Given the description of an element on the screen output the (x, y) to click on. 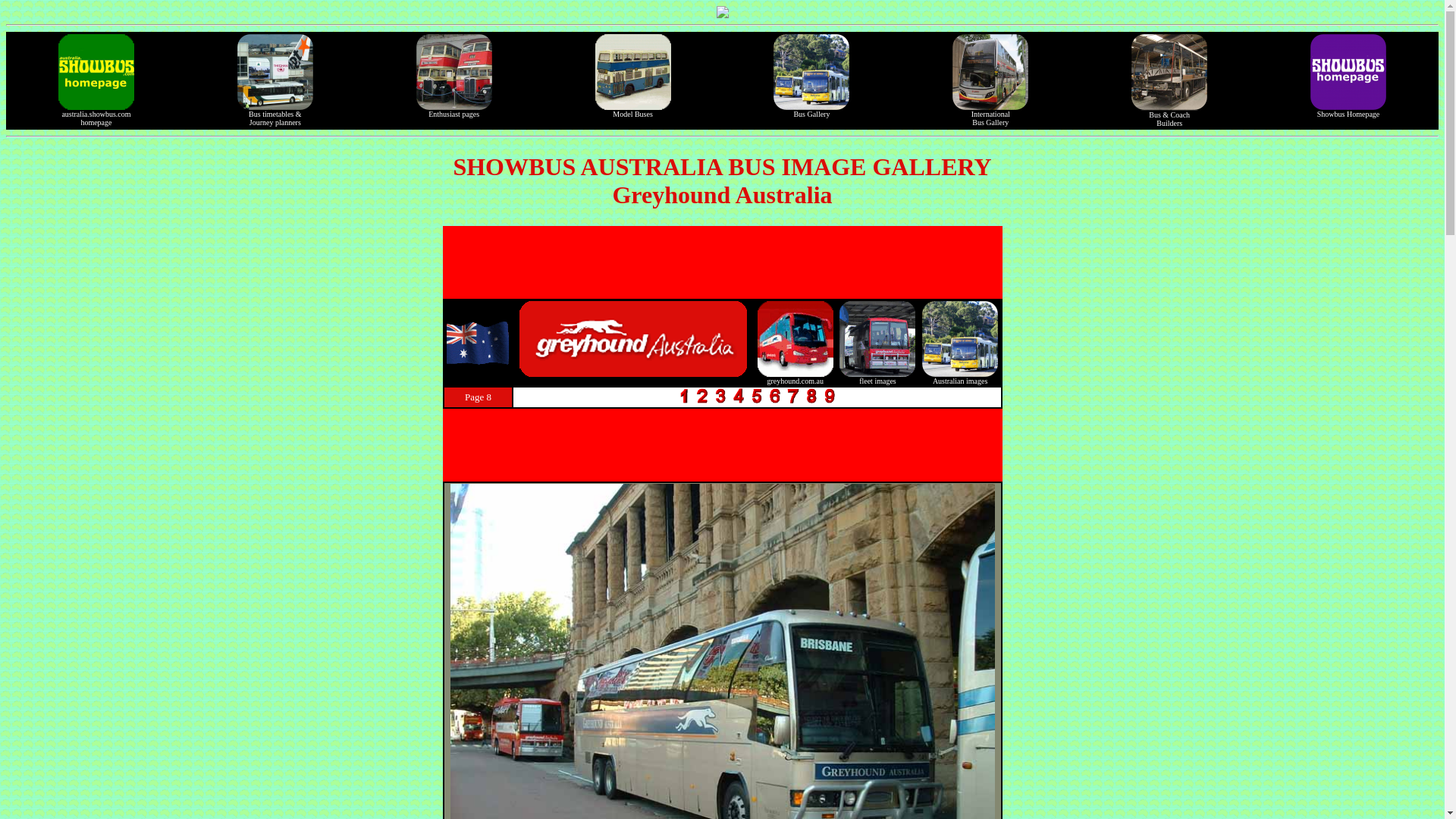
fleet images (877, 375)
Bus Gallery (810, 108)
Enthusiast pages (454, 108)
Showbus Homepage (1348, 108)
Australian images (959, 375)
Advertisement (989, 113)
Advertisement (721, 262)
Model Buses (95, 113)
